Given the description of an element on the screen output the (x, y) to click on. 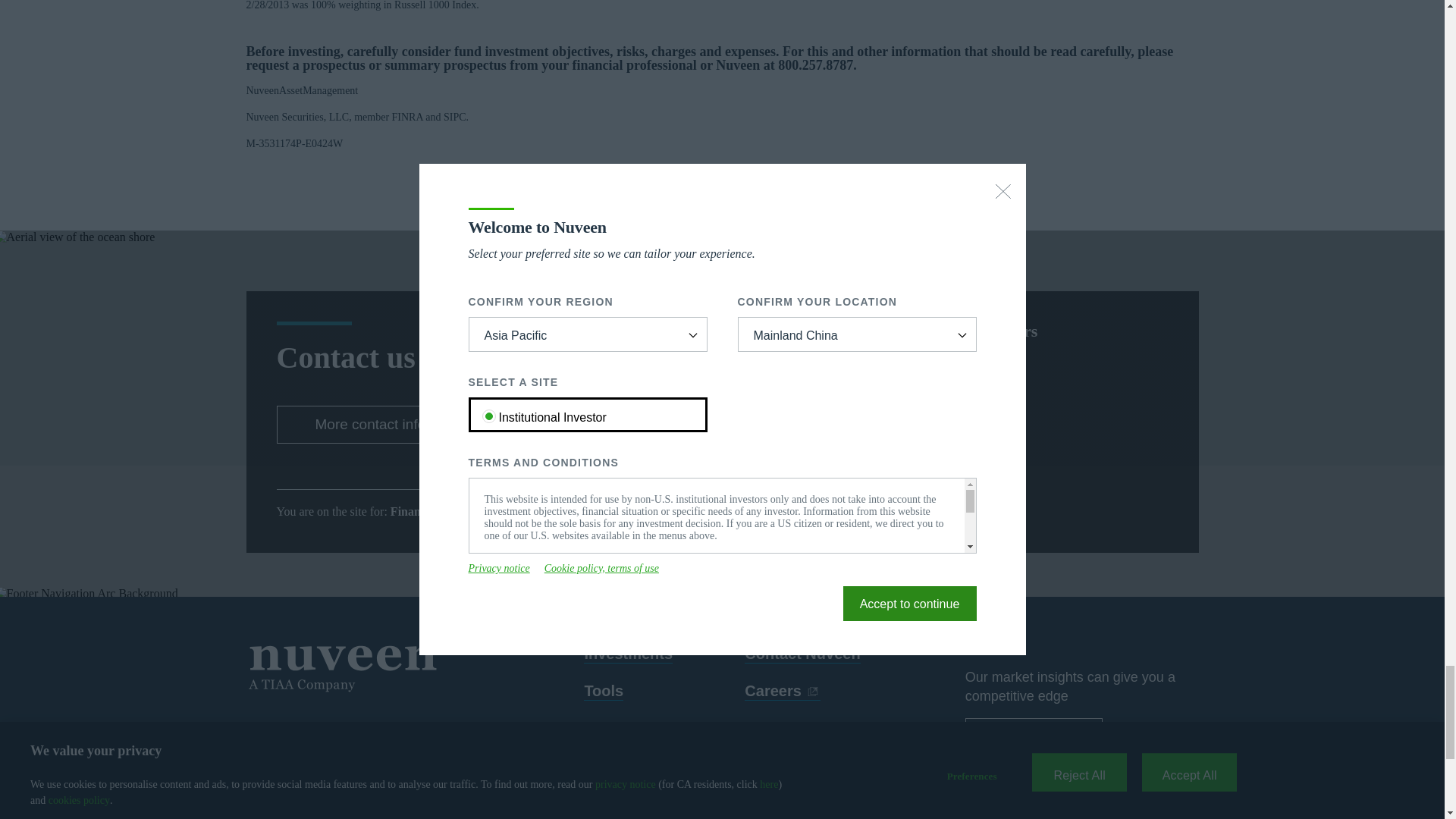
opens in a new window (782, 691)
